Given the description of an element on the screen output the (x, y) to click on. 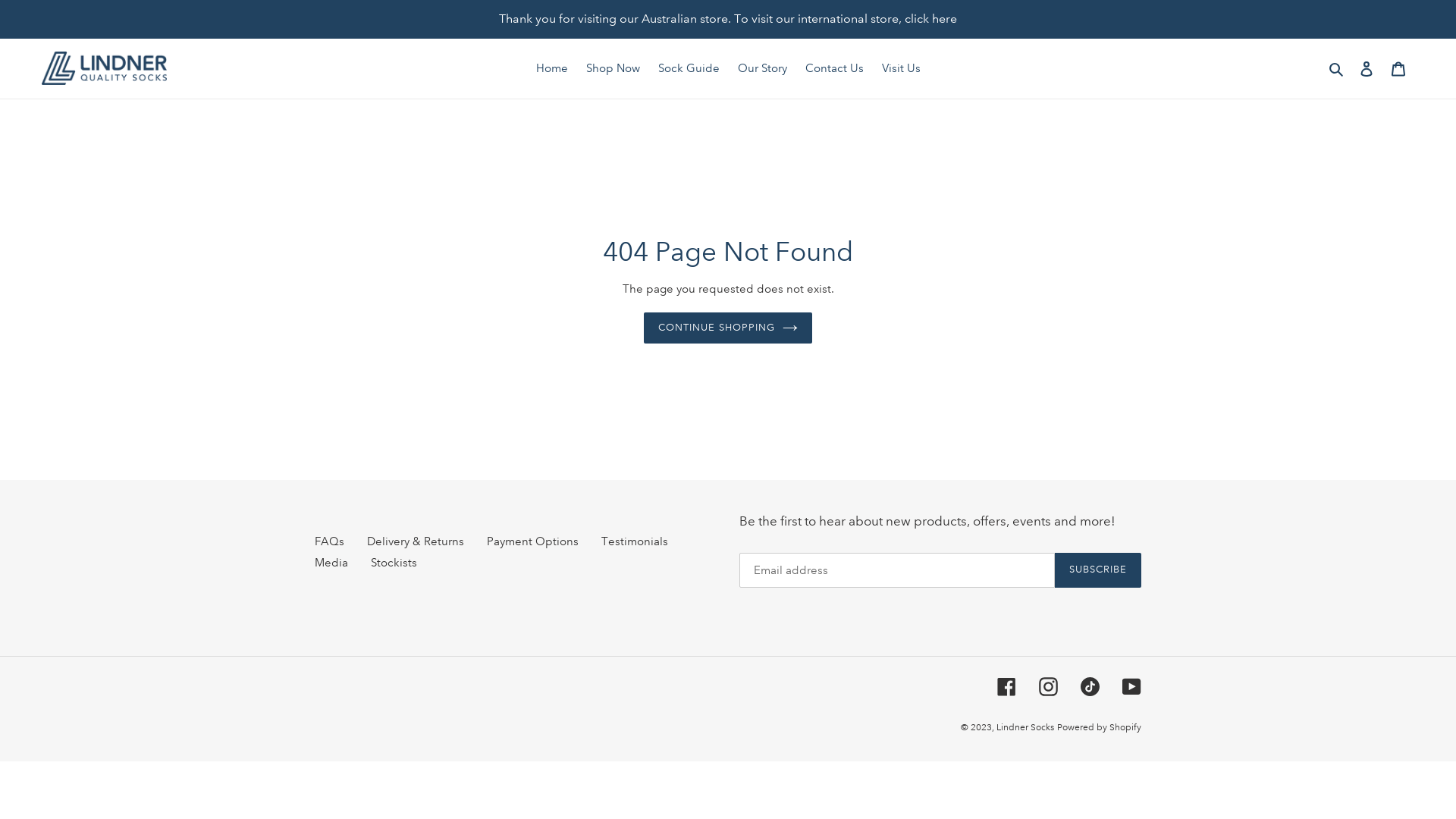
FAQs Element type: text (329, 541)
Lindner Socks Element type: text (1025, 727)
Cart Element type: text (1398, 68)
Instagram Element type: text (1047, 686)
CONTINUE SHOPPING Element type: text (727, 328)
Log in Element type: text (1366, 68)
Stockists Element type: text (393, 562)
Delivery & Returns Element type: text (415, 541)
SUBSCRIBE Element type: text (1097, 569)
YouTube Element type: text (1131, 686)
Testimonials Element type: text (634, 541)
Shop Now Element type: text (611, 68)
tiktok Element type: text (1089, 686)
Sock Guide Element type: text (688, 68)
Payment Options Element type: text (532, 541)
Visit Us Element type: text (900, 68)
Facebook Element type: text (1006, 686)
Our Story Element type: text (761, 68)
Contact Us Element type: text (834, 68)
Powered by Shopify Element type: text (1099, 727)
Media Element type: text (331, 562)
Home Element type: text (550, 68)
Search Element type: text (1337, 68)
